Given the description of an element on the screen output the (x, y) to click on. 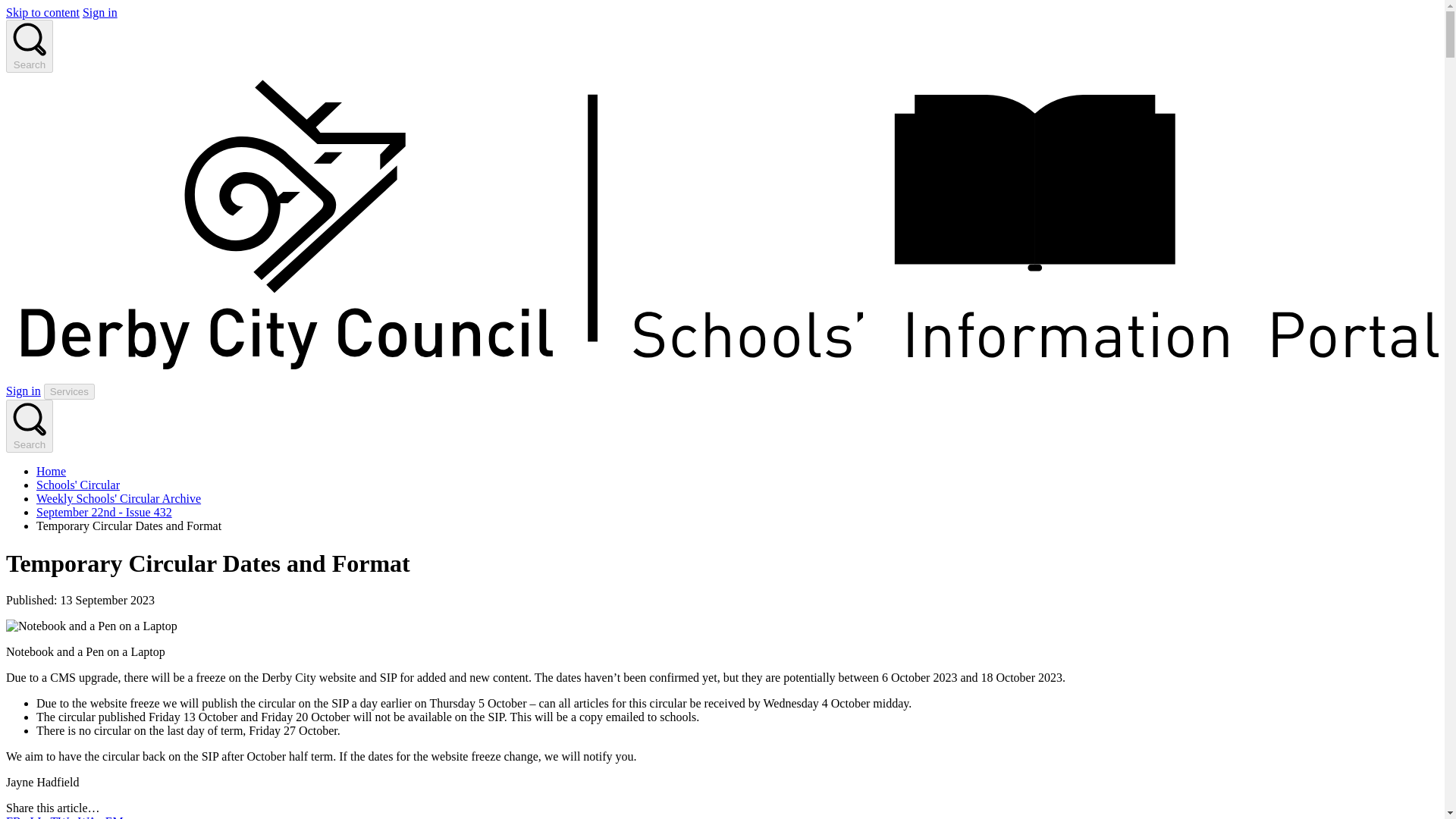
Search (28, 425)
TW (58, 816)
Weekly Schools' Circular Archive (118, 498)
FB (13, 816)
Home (50, 471)
Sign in (99, 11)
Sign in (22, 390)
Search (28, 45)
Skip to content (42, 11)
EM (113, 816)
WA (87, 816)
Services (68, 391)
September 22nd - Issue 432 (103, 512)
LI (36, 816)
Schools' Circular (77, 484)
